Given the description of an element on the screen output the (x, y) to click on. 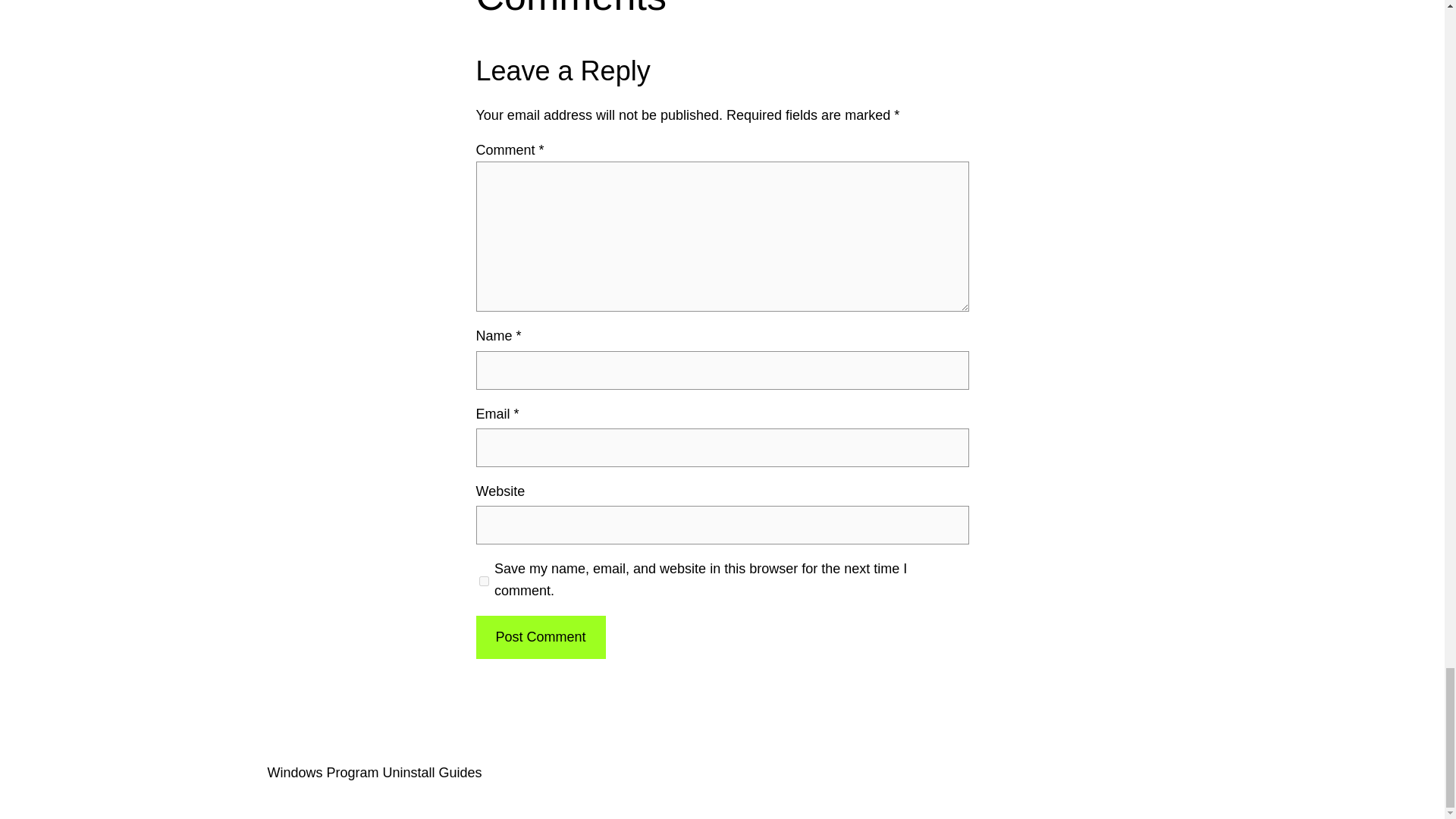
Post Comment (540, 637)
Post Comment (540, 637)
Windows Program Uninstall Guides (373, 771)
